Given the description of an element on the screen output the (x, y) to click on. 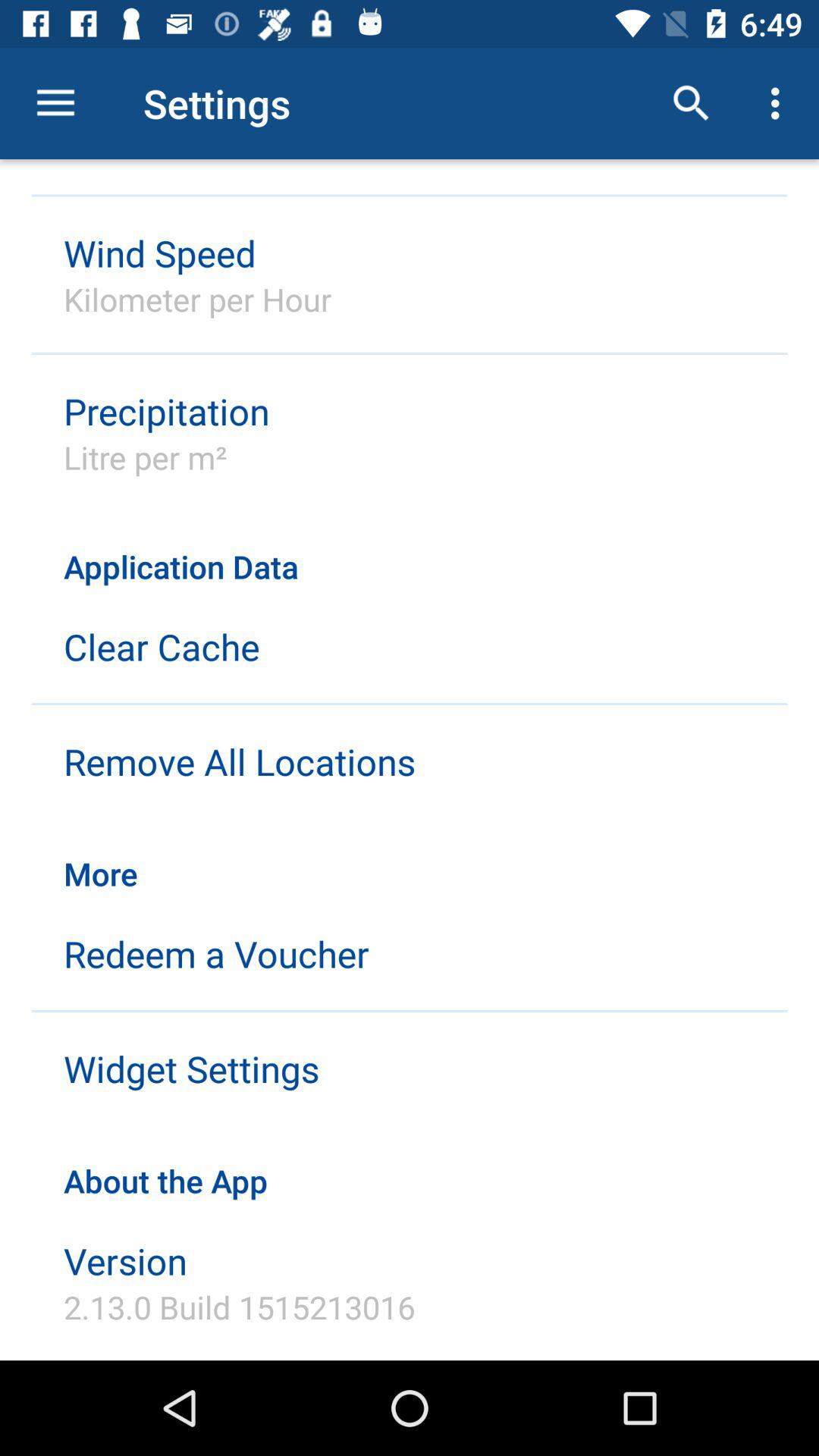
swipe until the remove all locations icon (239, 761)
